Given the description of an element on the screen output the (x, y) to click on. 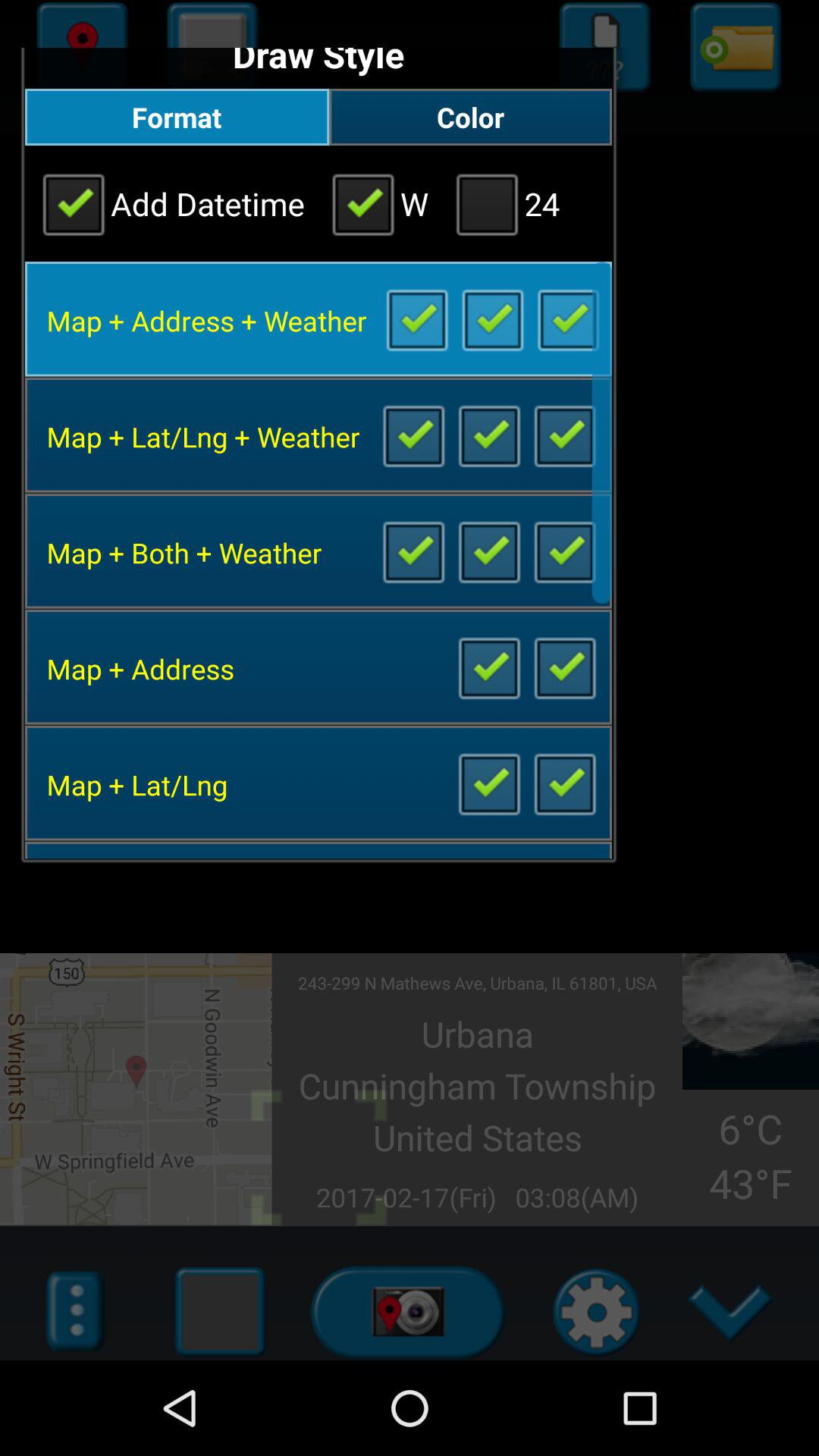
select button (488, 434)
